Given the description of an element on the screen output the (x, y) to click on. 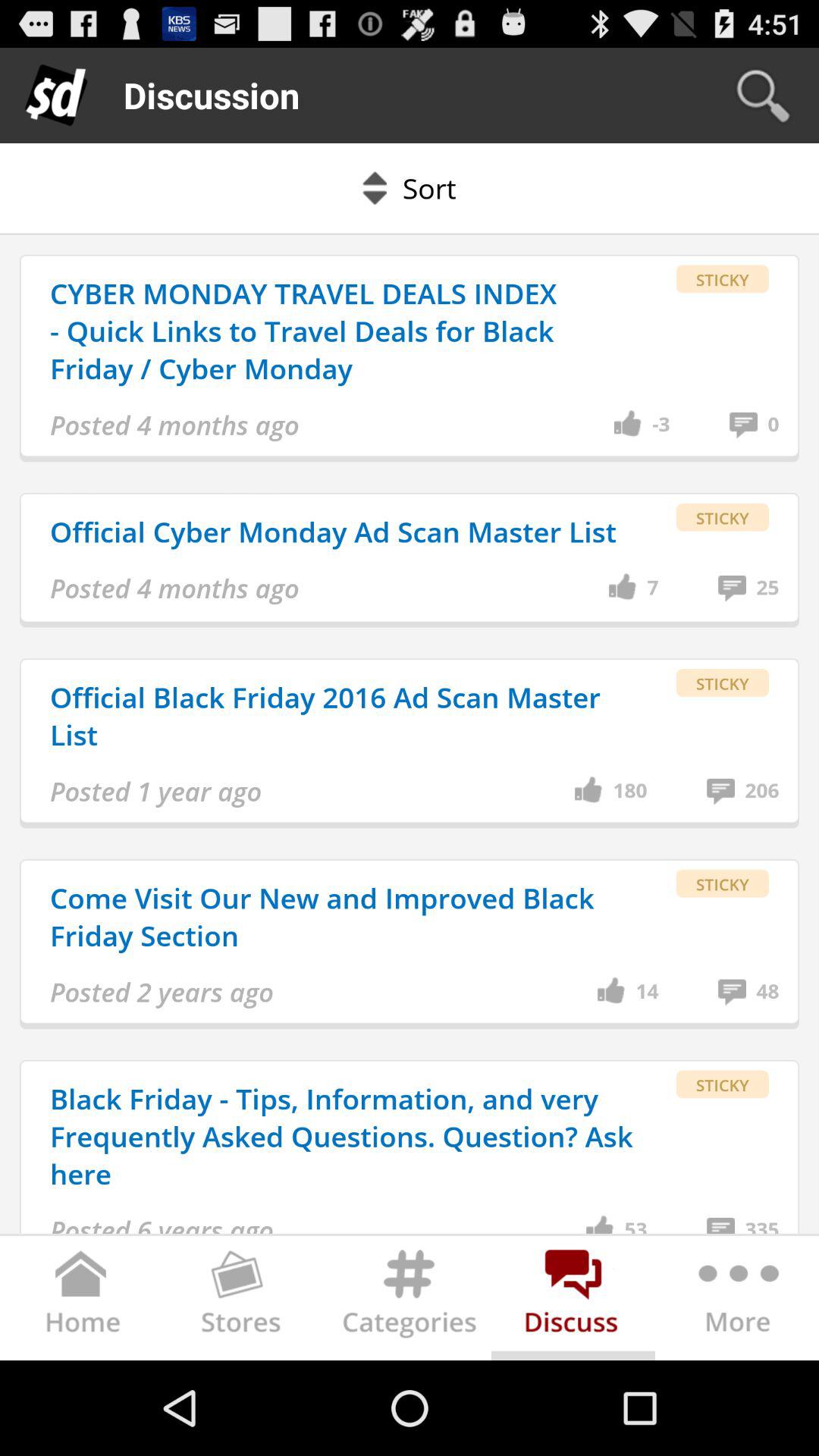
the message bar (573, 1301)
